Given the description of an element on the screen output the (x, y) to click on. 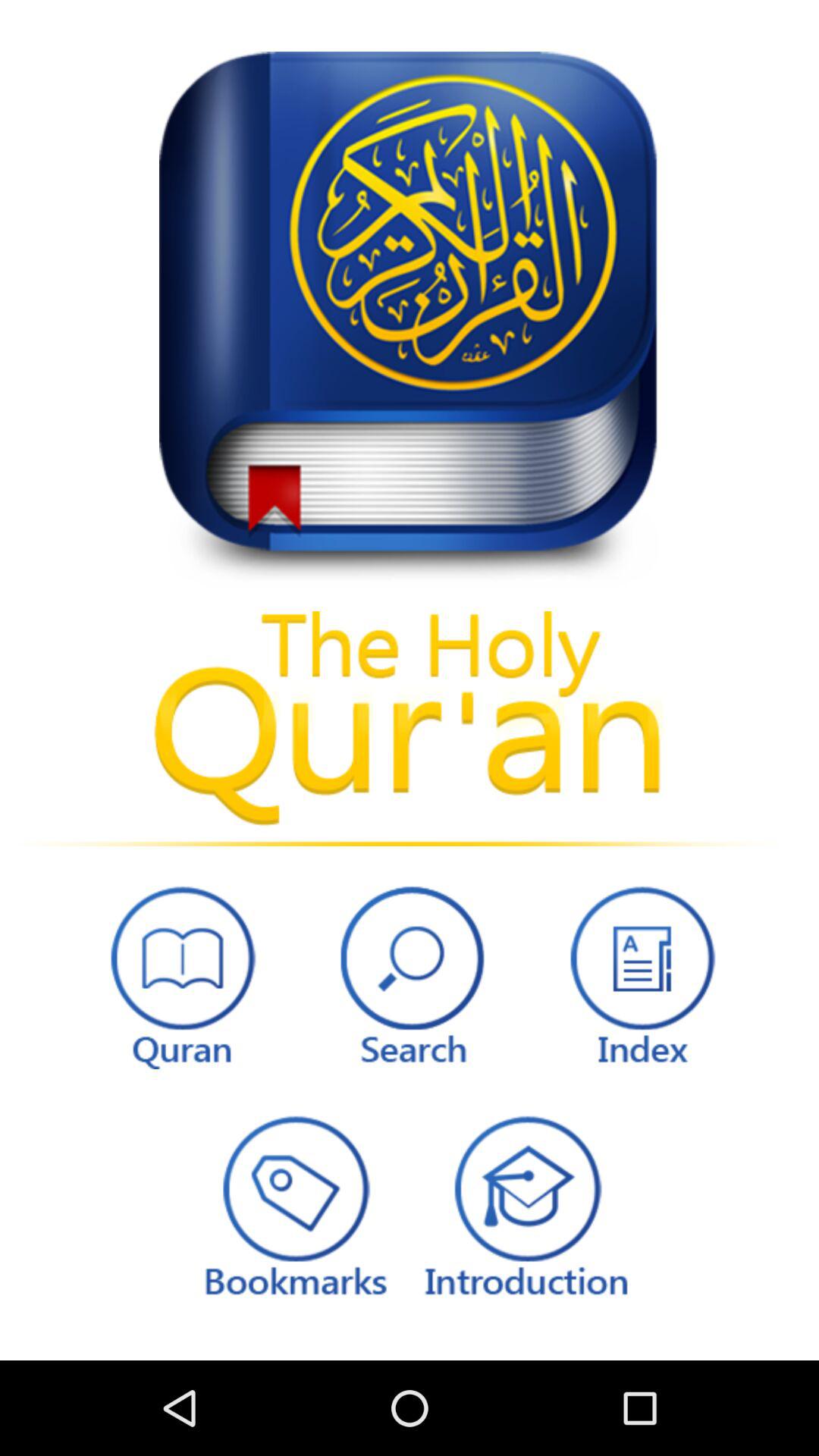
turn off icon at the bottom left corner (179, 973)
